Given the description of an element on the screen output the (x, y) to click on. 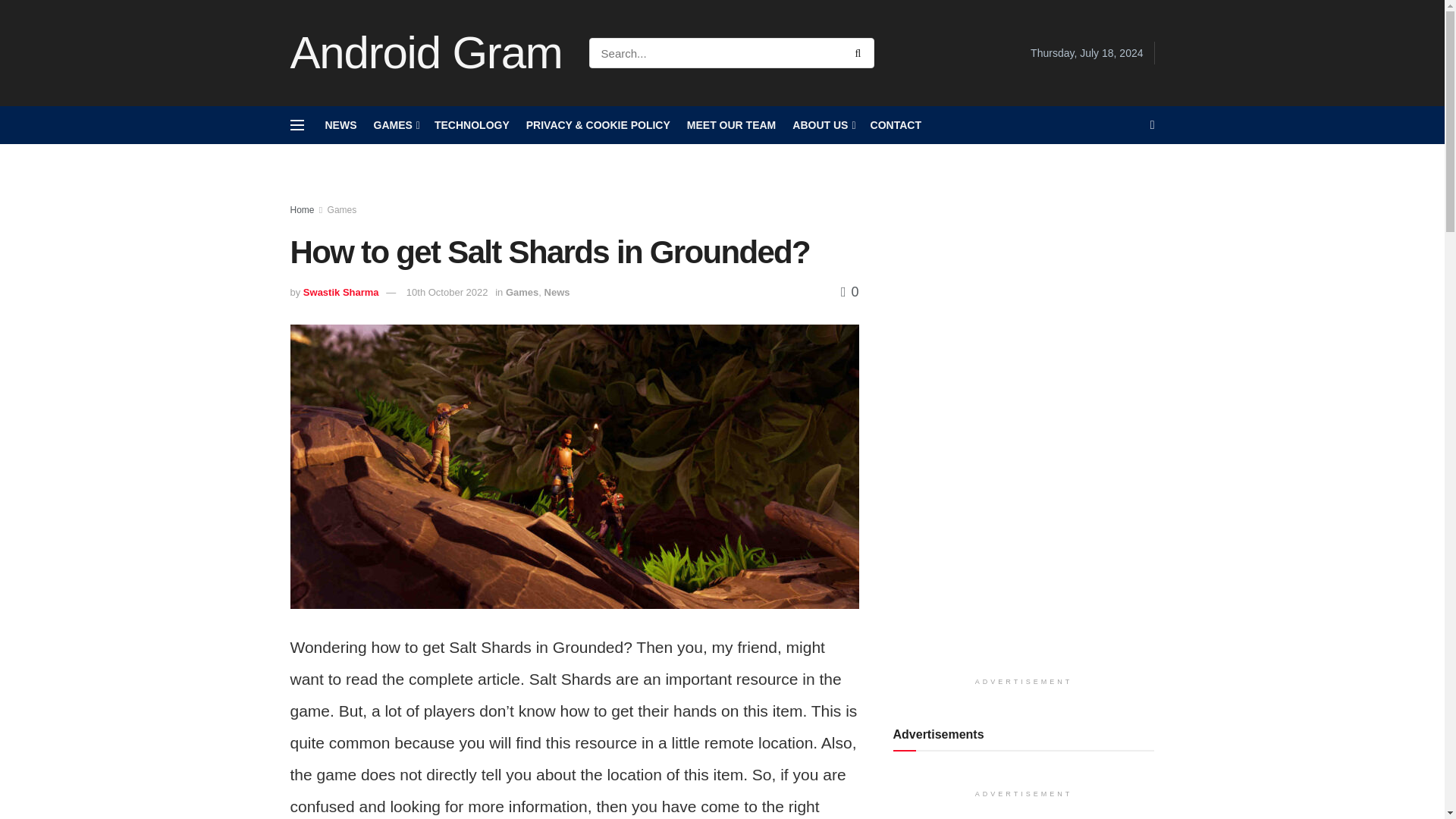
GAMES (394, 125)
10th October 2022 (446, 292)
Home (301, 209)
0 (850, 291)
MEET OUR TEAM (731, 125)
CONTACT (895, 125)
Games (521, 292)
Swastik Sharma (340, 292)
ABOUT US (822, 125)
Games (341, 209)
News (557, 292)
Android Gram (425, 53)
TECHNOLOGY (471, 125)
